Given the description of an element on the screen output the (x, y) to click on. 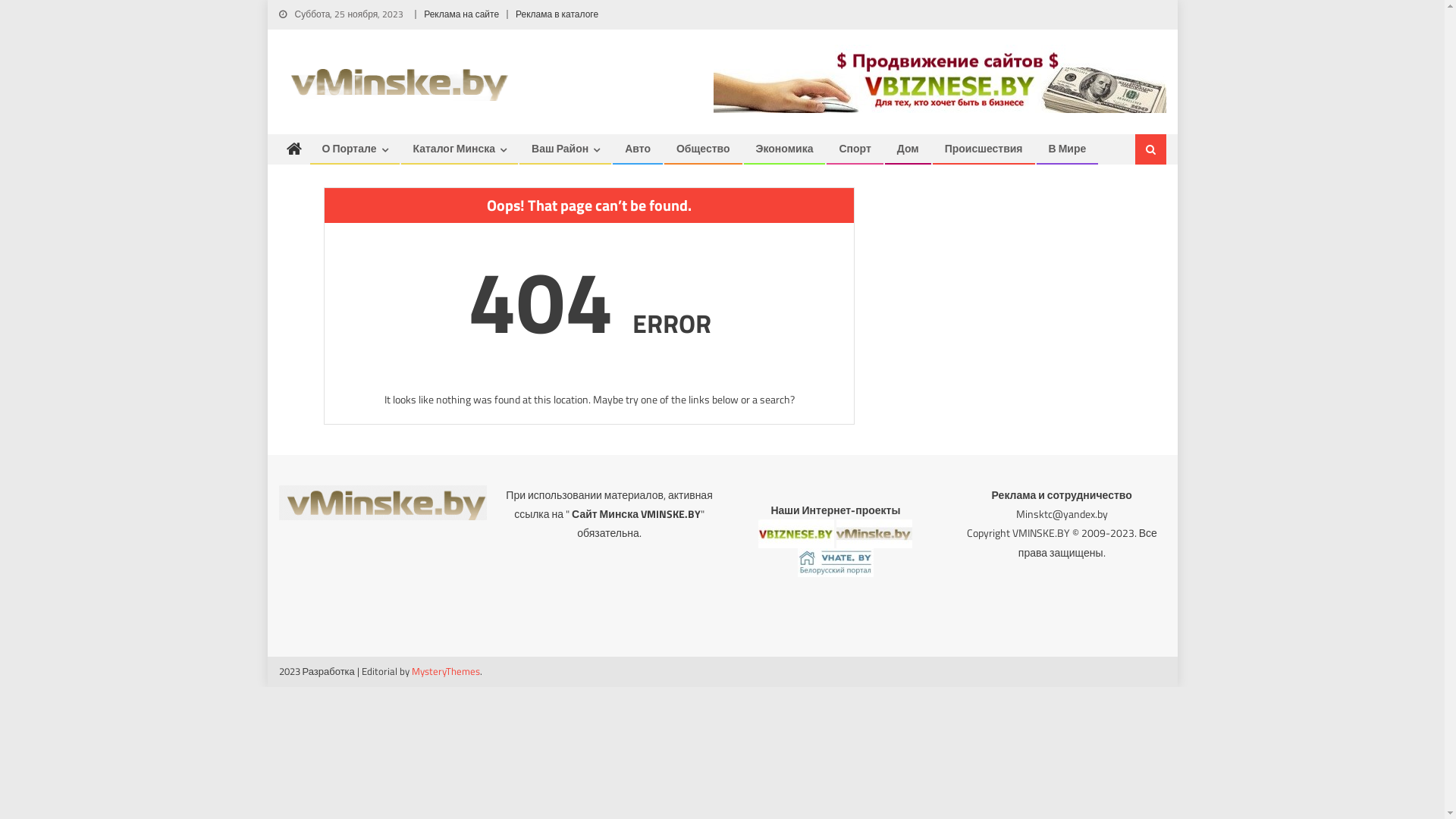
MysteryThemes Element type: text (445, 670)
